Given the description of an element on the screen output the (x, y) to click on. 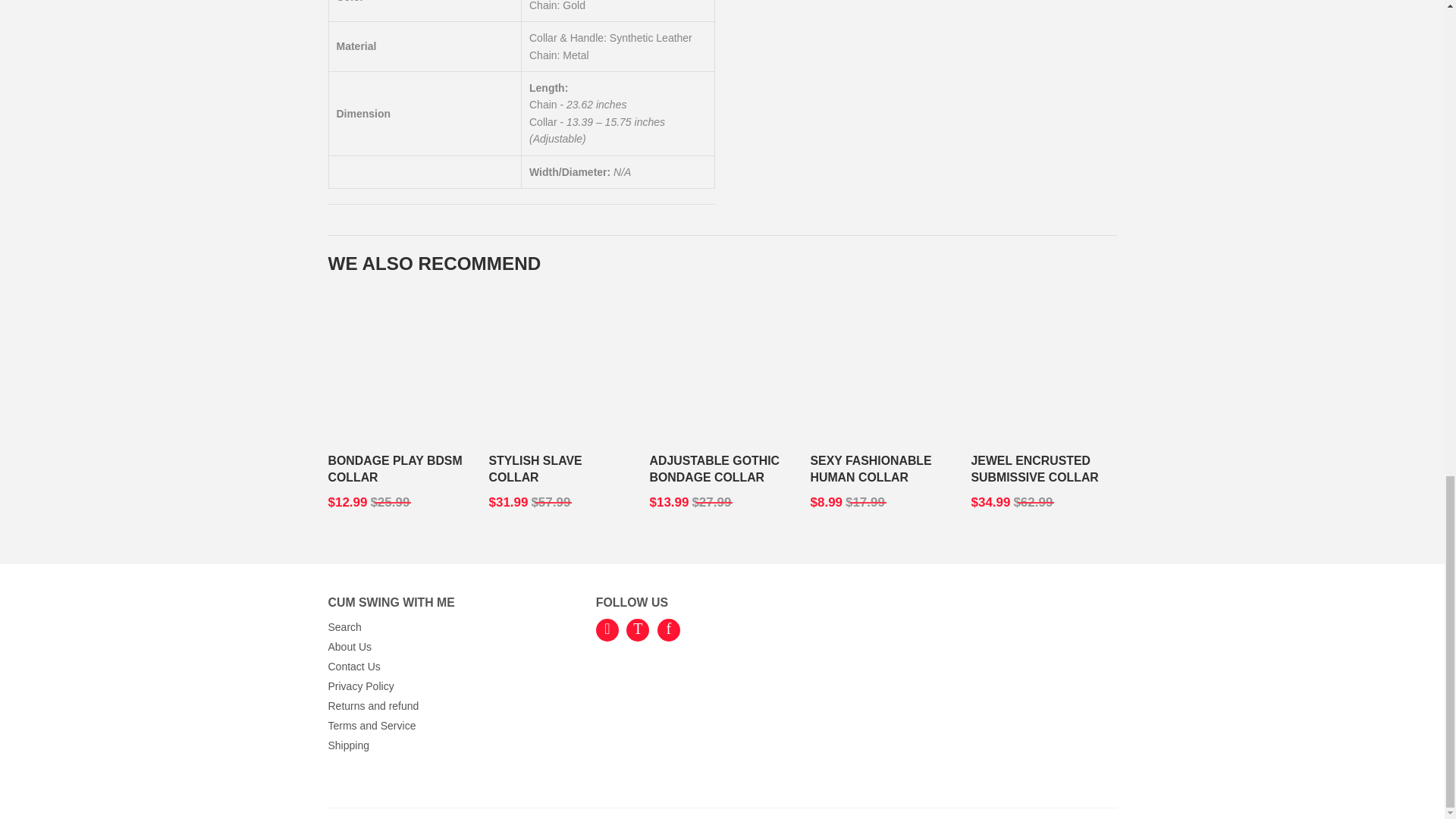
Cum Swing With Me on Twitter (637, 629)
Cum Swing With Me on Facebook (668, 629)
Cum Swing With Me on Instagram (606, 629)
